Given the description of an element on the screen output the (x, y) to click on. 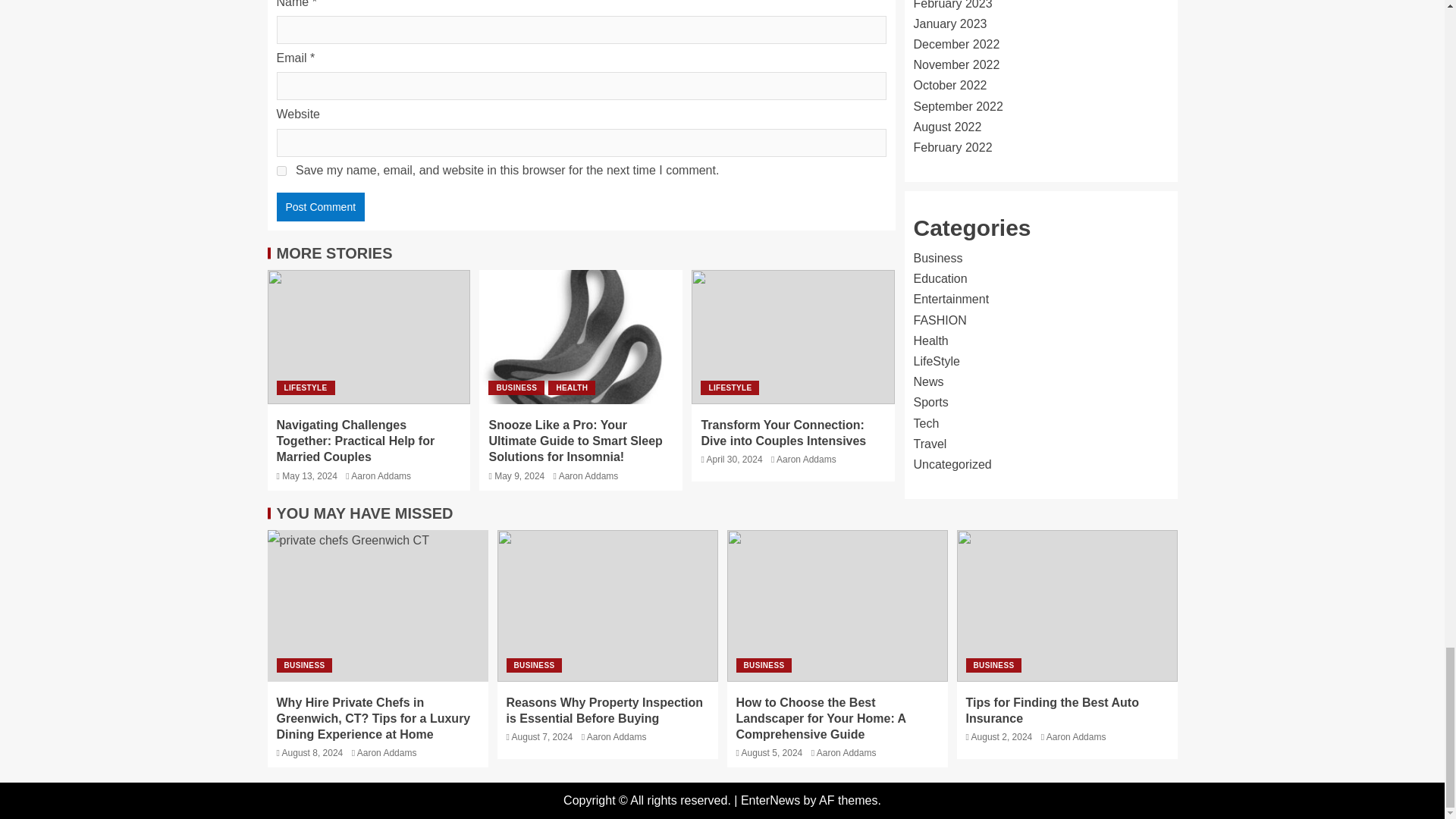
HEALTH (571, 387)
yes (280, 171)
Aaron Addams (380, 475)
LIFESTYLE (305, 387)
Post Comment (320, 206)
Aaron Addams (588, 475)
BUSINESS (515, 387)
Post Comment (320, 206)
